Given the description of an element on the screen output the (x, y) to click on. 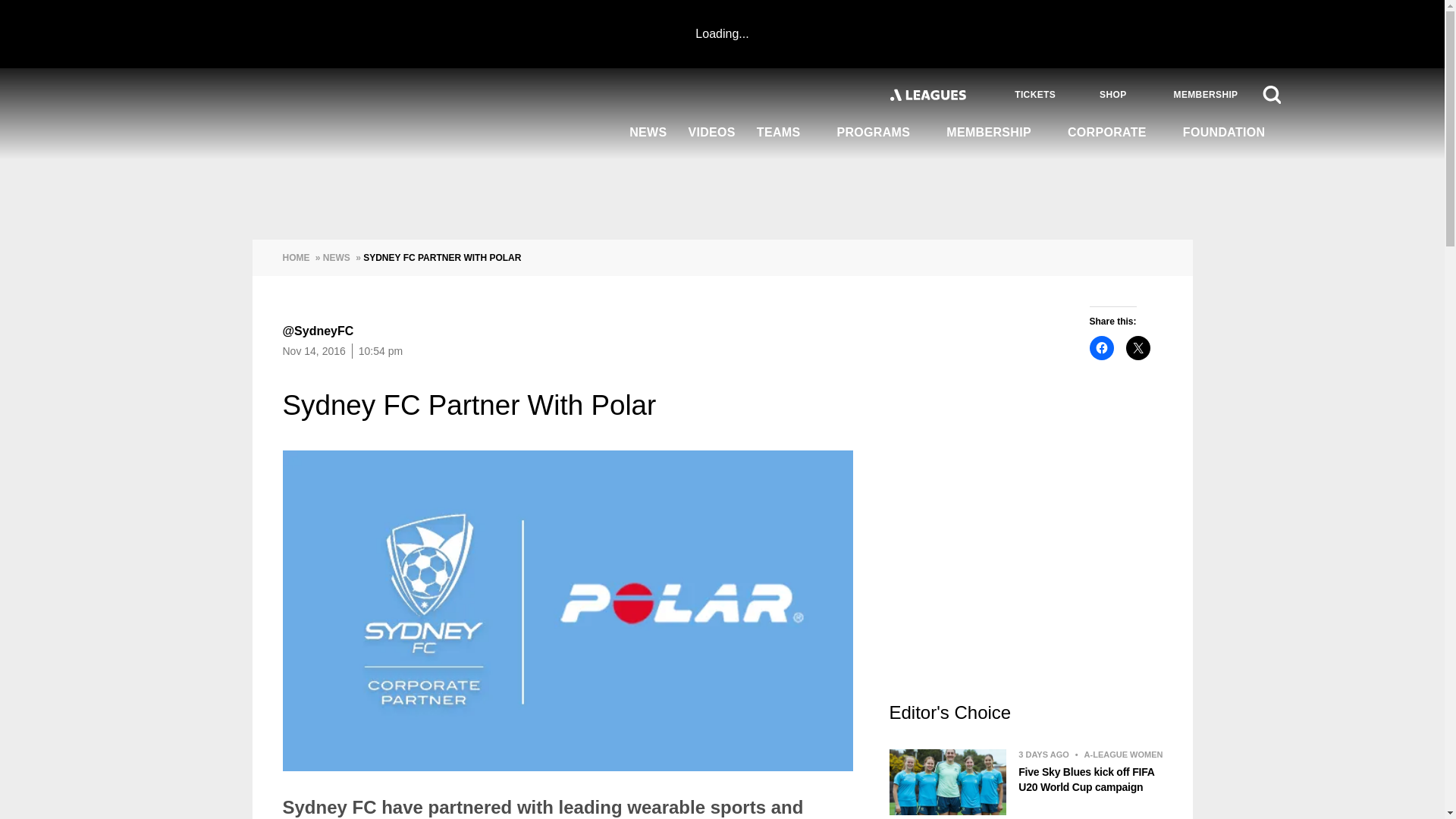
PROGRAMS (880, 132)
Click to share on Facebook (1101, 347)
VIDEOS (711, 133)
NEWS (647, 133)
Click to share on X (1137, 347)
TEAMS (786, 132)
